Given the description of an element on the screen output the (x, y) to click on. 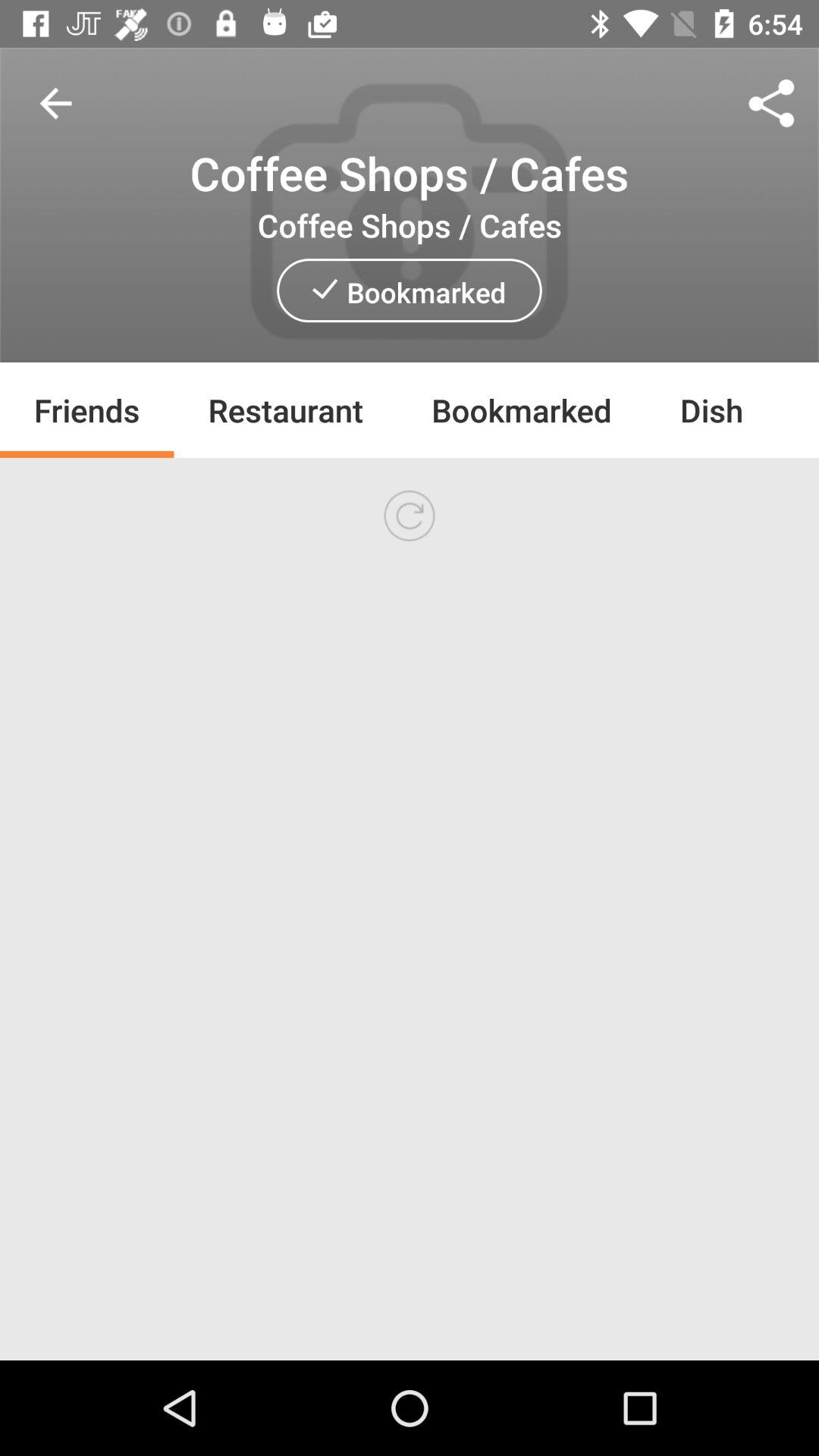
open the item above the coffee shops / cafes item (55, 103)
